Given the description of an element on the screen output the (x, y) to click on. 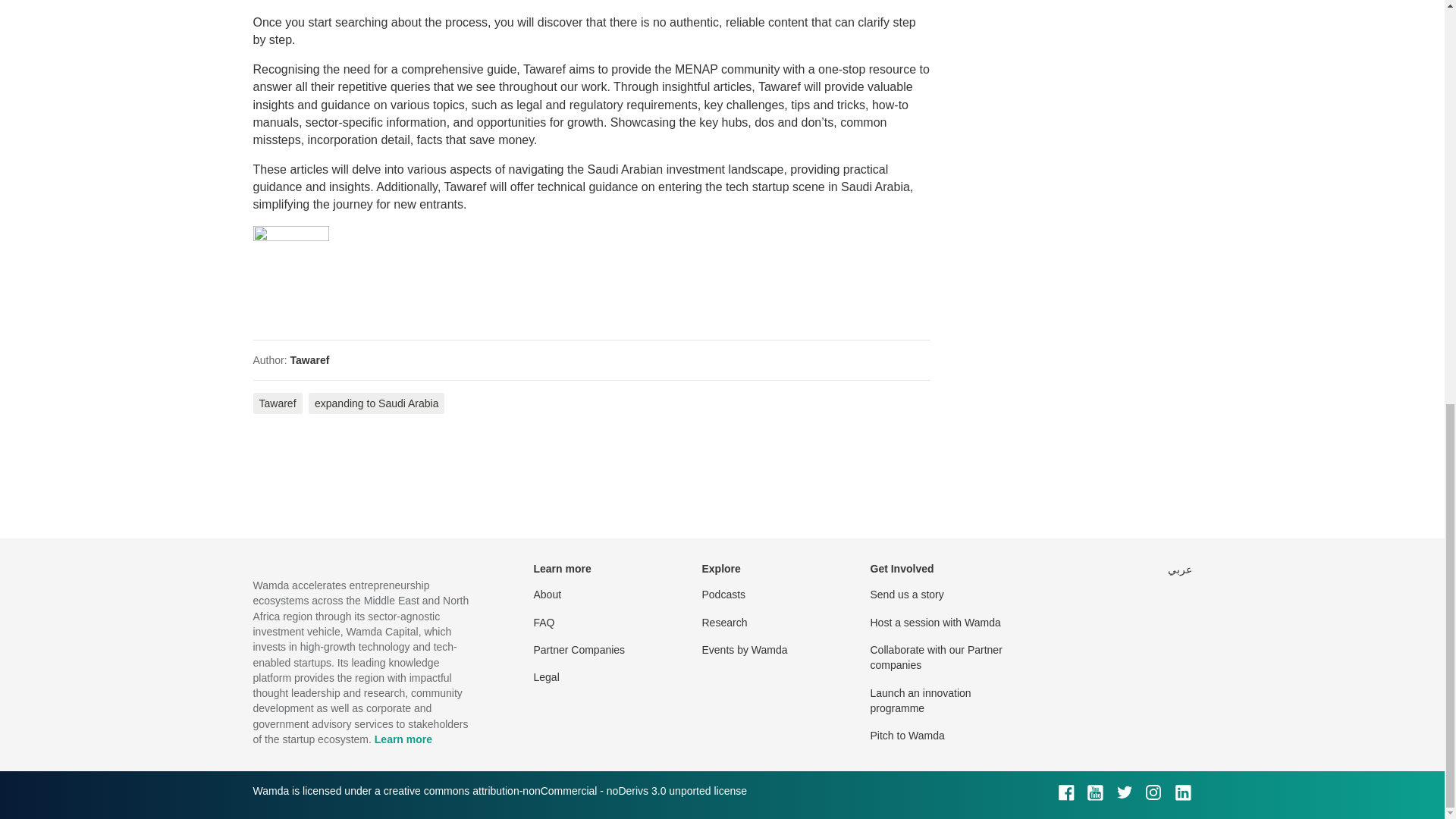
Instagram (1152, 791)
Twitter (1124, 791)
Podcasts (723, 594)
Tawaref (277, 403)
expanding to Saudi Arabia (376, 403)
About (548, 594)
Facebook (1066, 791)
Host a session with Wamda (935, 622)
FAQ (544, 622)
Events by Wamda (744, 649)
